Given the description of an element on the screen output the (x, y) to click on. 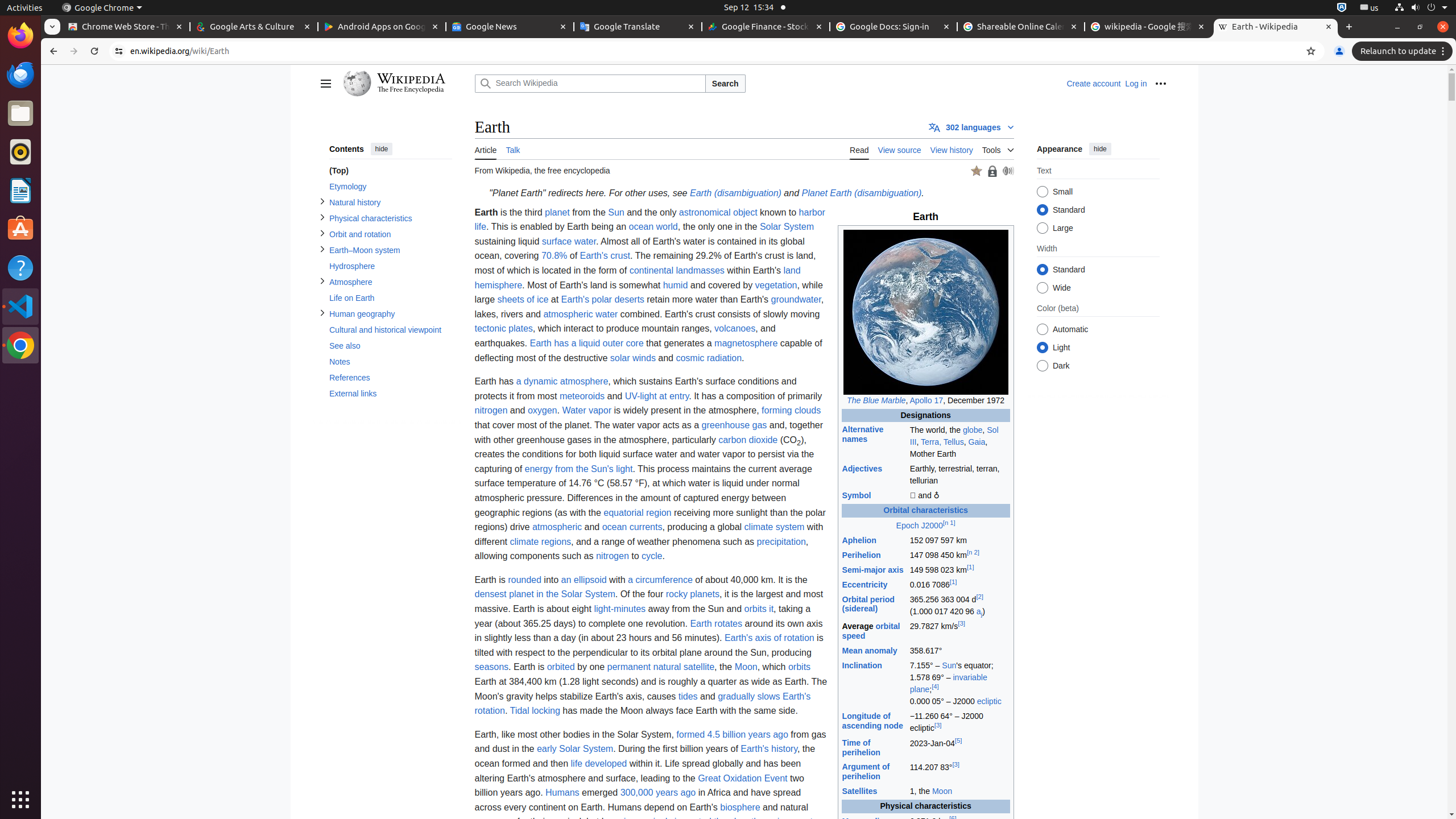
Toggle Earth–Moon system subsection Element type: push-button (321, 248)
Sol III Element type: link (953, 435)
Google Chrome Element type: push-button (20, 344)
:1.21/StatusNotifierItem Element type: menu (1369, 7)
densest planet in the Solar System Element type: link (544, 594)
